Given the description of an element on the screen output the (x, y) to click on. 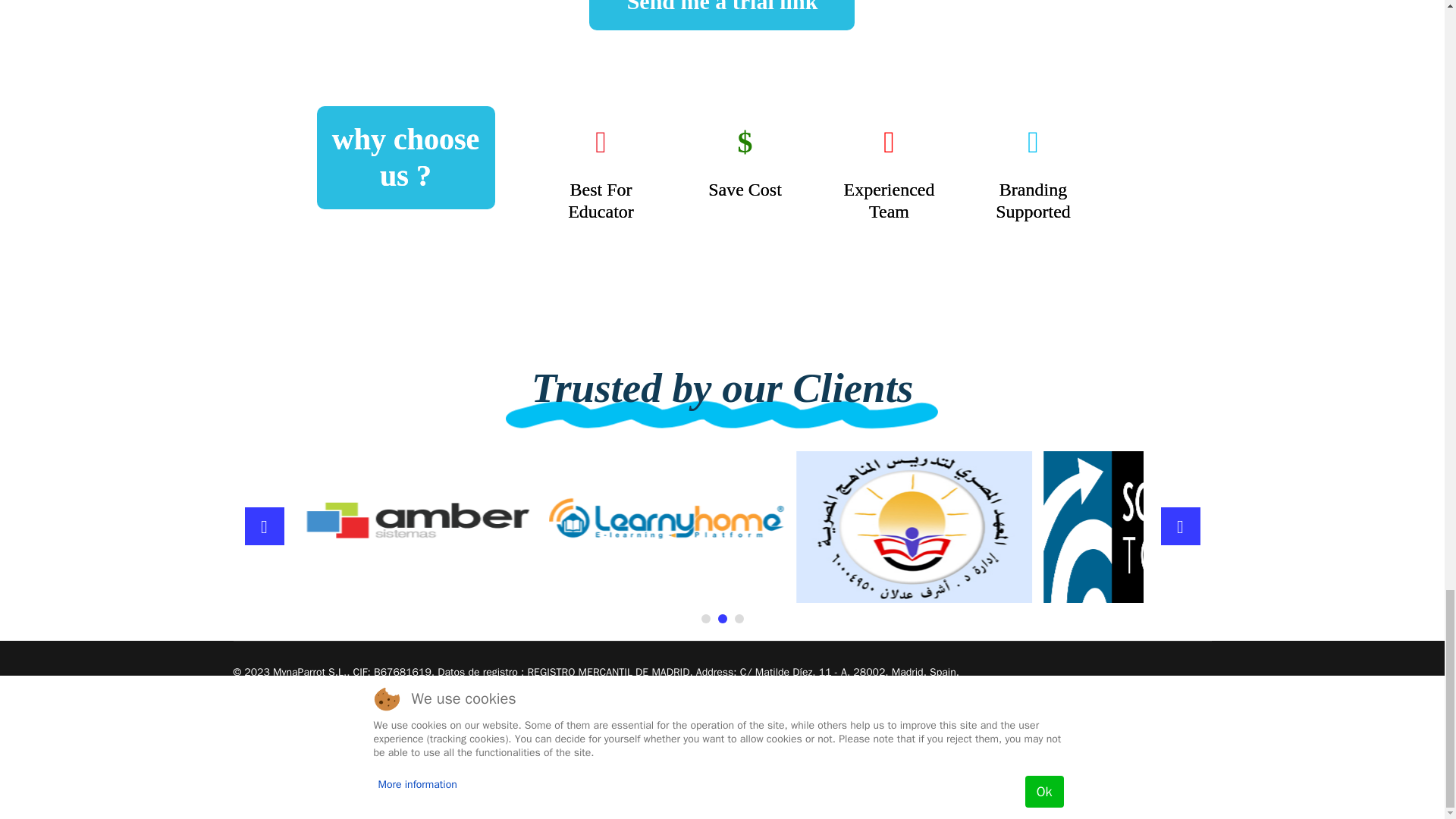
Send me a trial link (721, 6)
Terms and Conditions (283, 699)
Privacy Policy (373, 699)
